Given the description of an element on the screen output the (x, y) to click on. 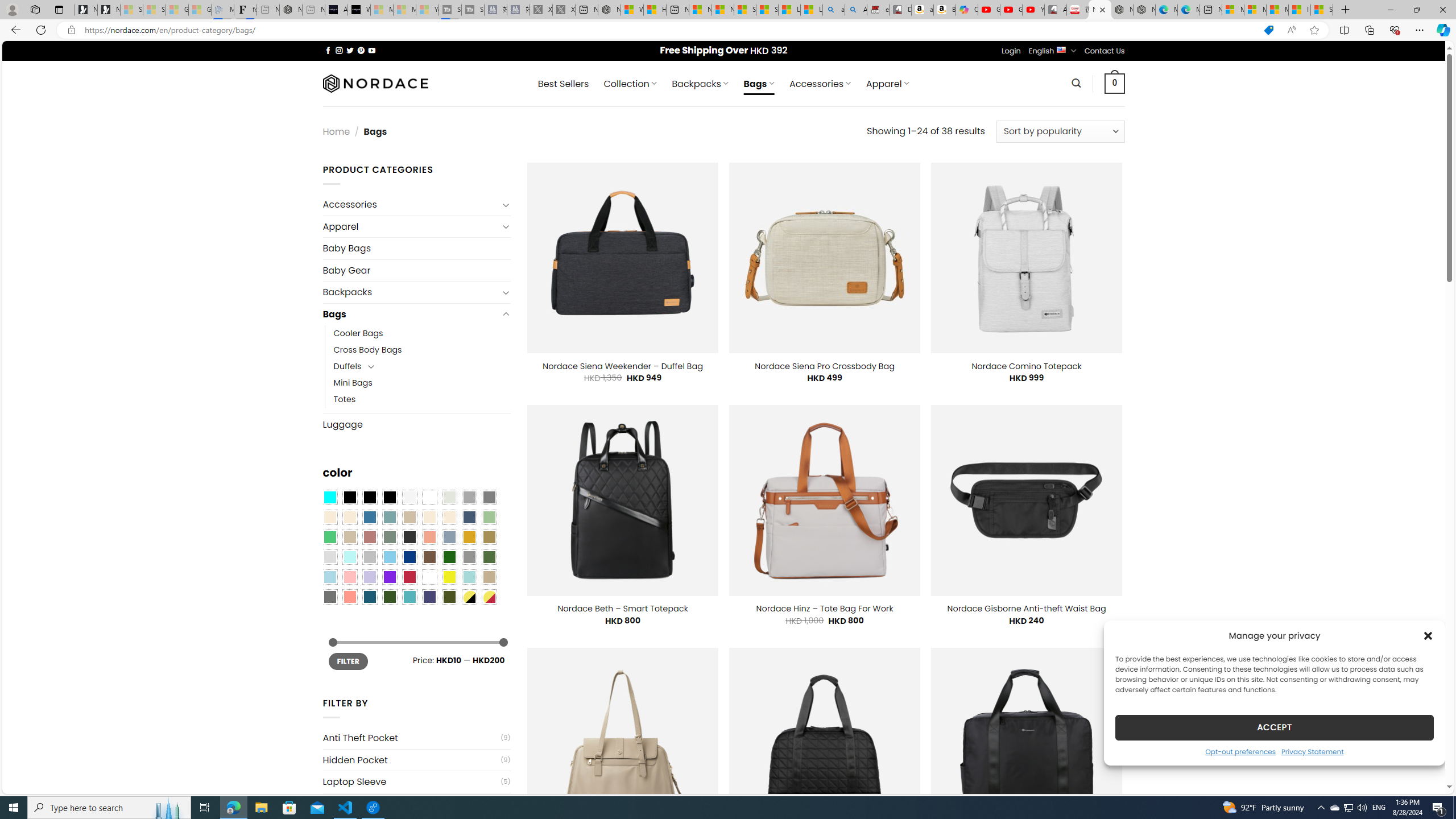
Nordace - #1 Japanese Best-Seller - Siena Smart Backpack (291, 9)
